Given the description of an element on the screen output the (x, y) to click on. 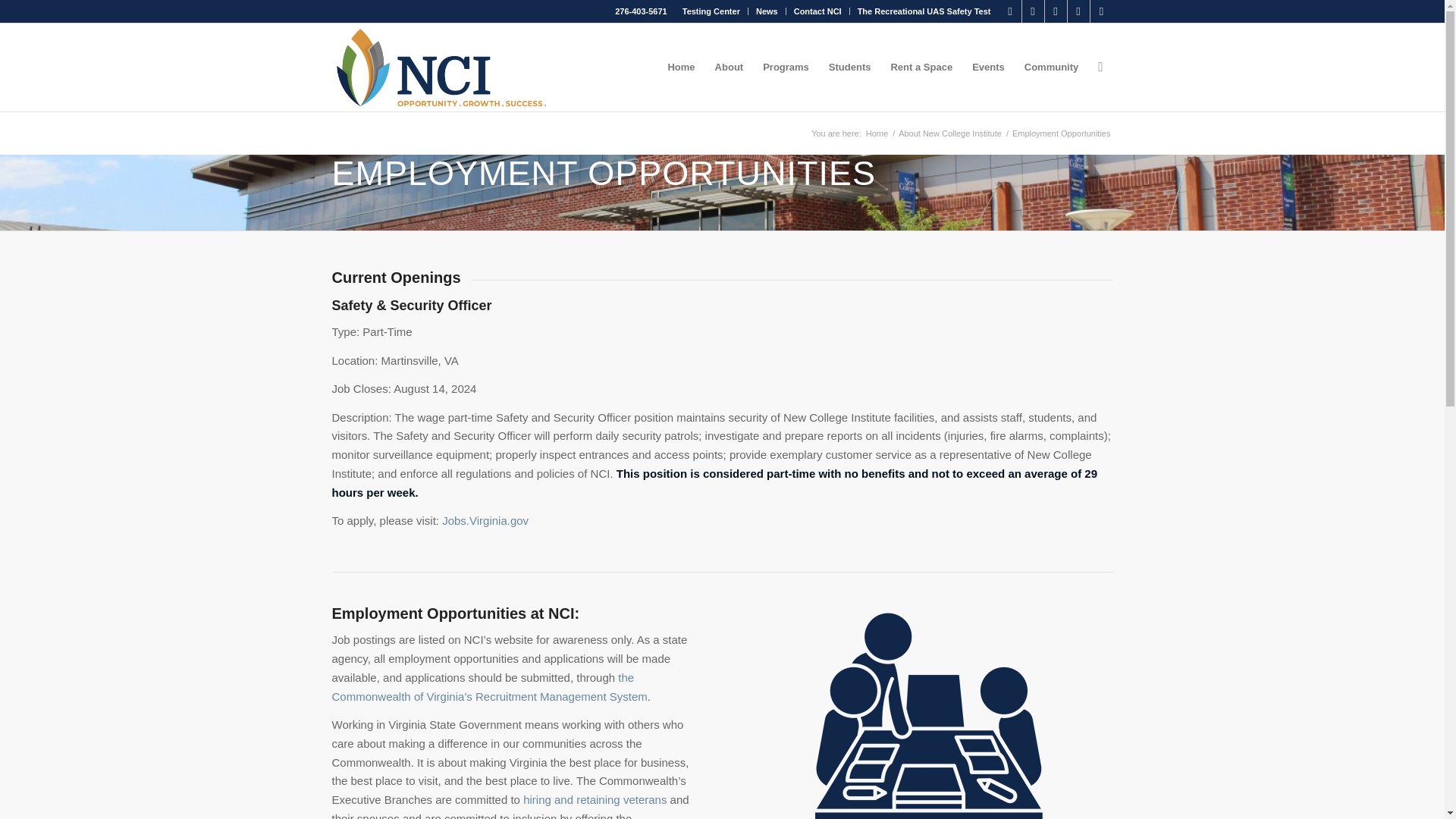
LinkedIn (1056, 11)
Testing Center (710, 11)
NCI Logo (442, 67)
New College Institute (876, 133)
About New College Institute (950, 133)
Youtube (1101, 11)
The Recreational UAS Safety Test (924, 11)
276-403-5671 (640, 10)
X (1032, 11)
News (766, 11)
